Given the description of an element on the screen output the (x, y) to click on. 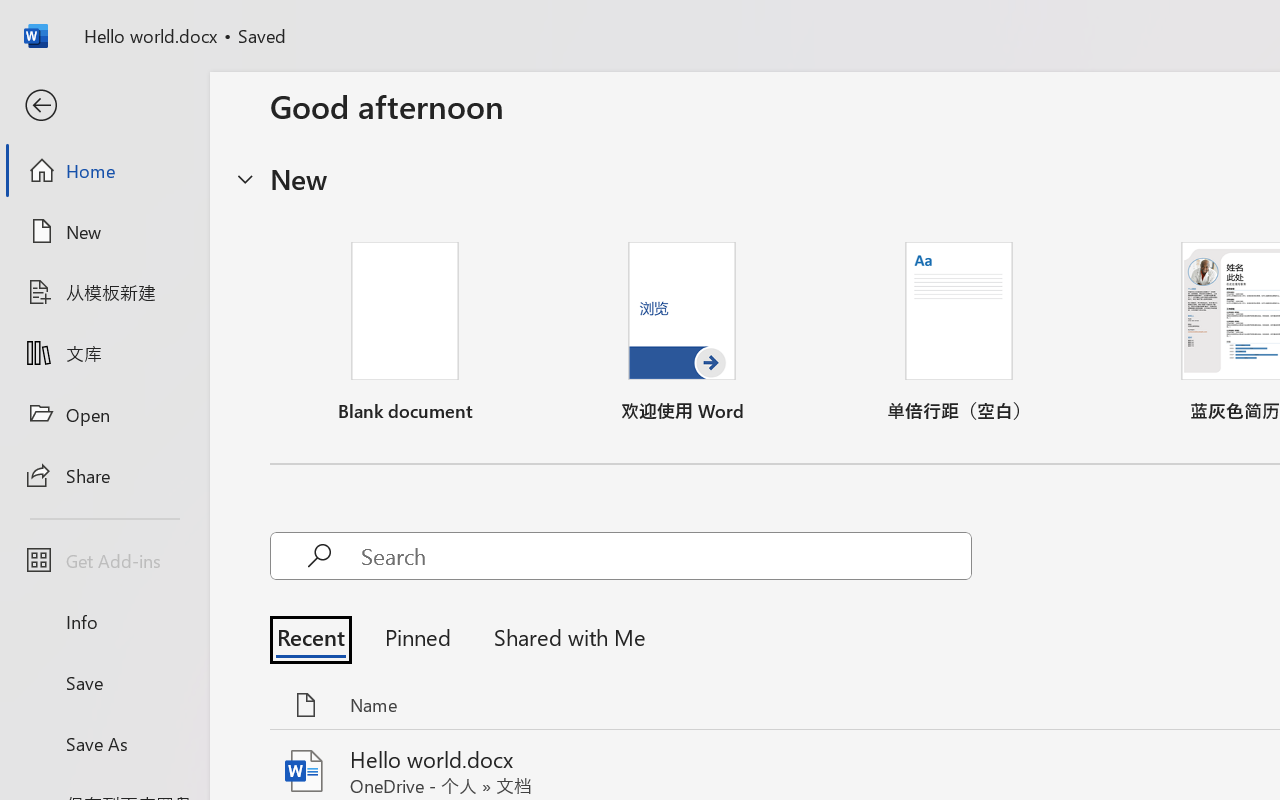
Save (104, 682)
Info (104, 621)
New (104, 231)
Shared with Me (563, 636)
Share (104, 474)
